Given the description of an element on the screen output the (x, y) to click on. 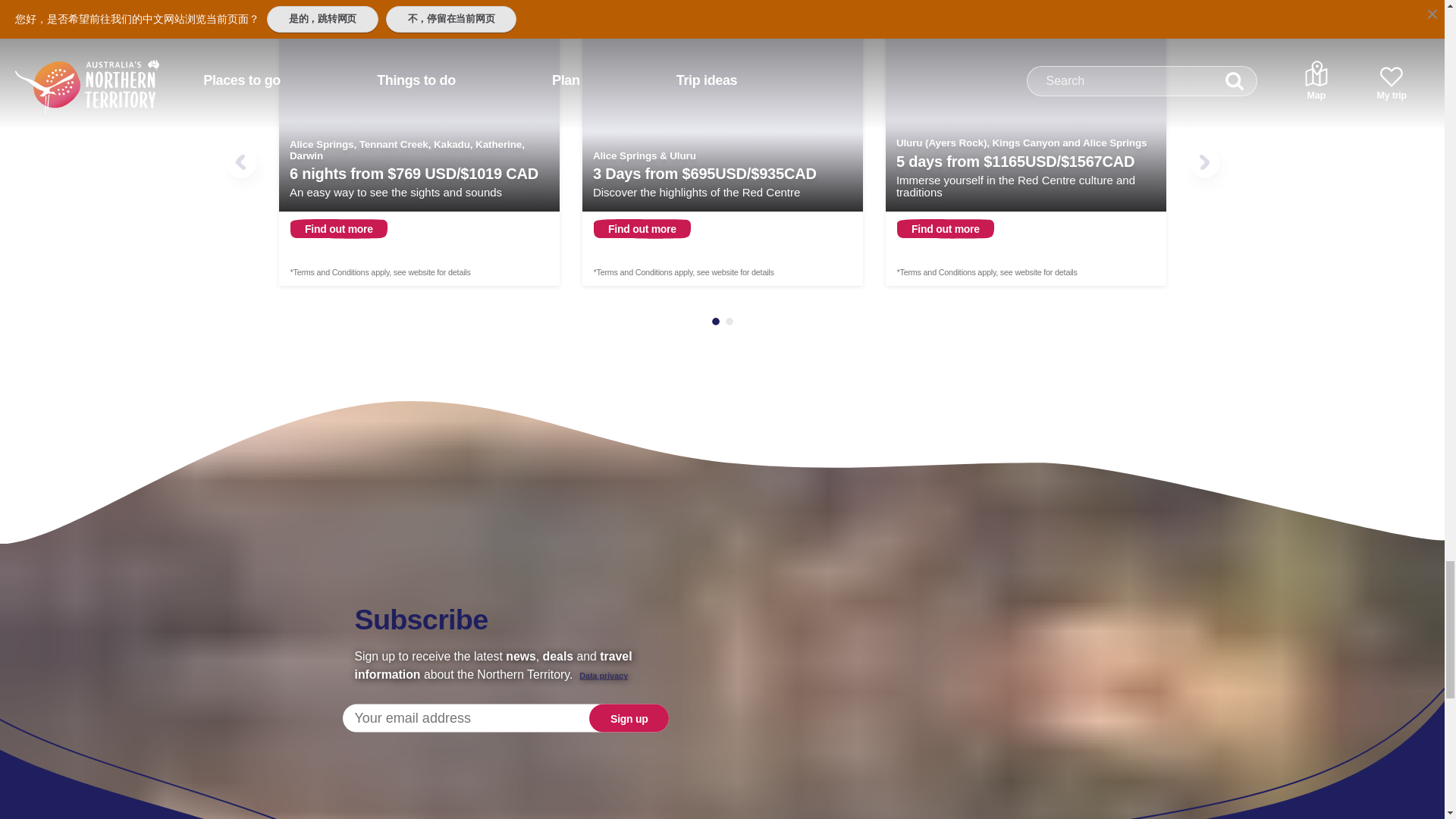
Opens in a new window (419, 154)
Opens in a new window (722, 154)
Opens in a new window (1025, 154)
